Given the description of an element on the screen output the (x, y) to click on. 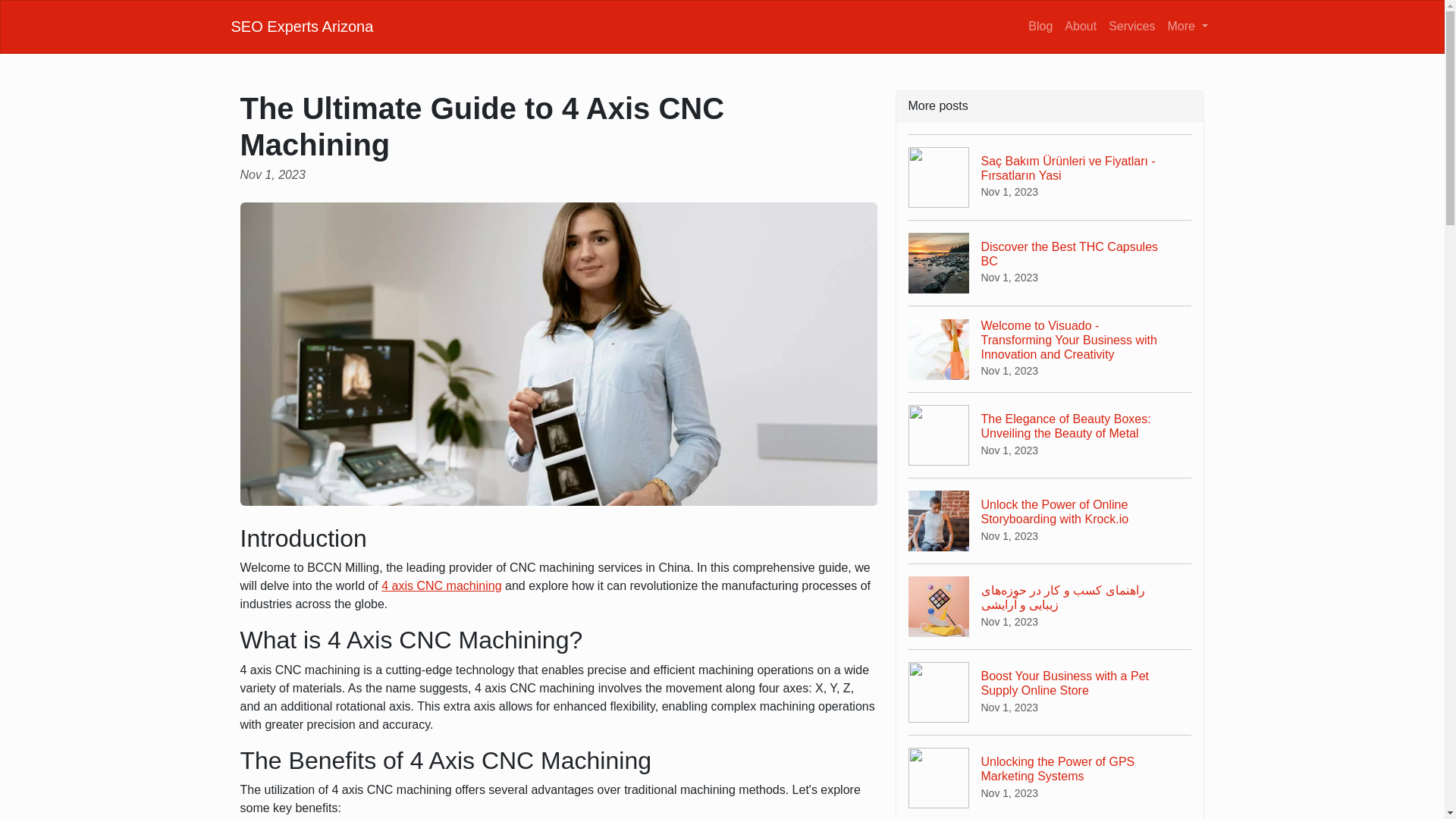
Services (1050, 776)
4 axis CNC machining (1131, 26)
About (440, 585)
SEO Experts Arizona (1080, 26)
Blog (1050, 262)
More (301, 26)
